Given the description of an element on the screen output the (x, y) to click on. 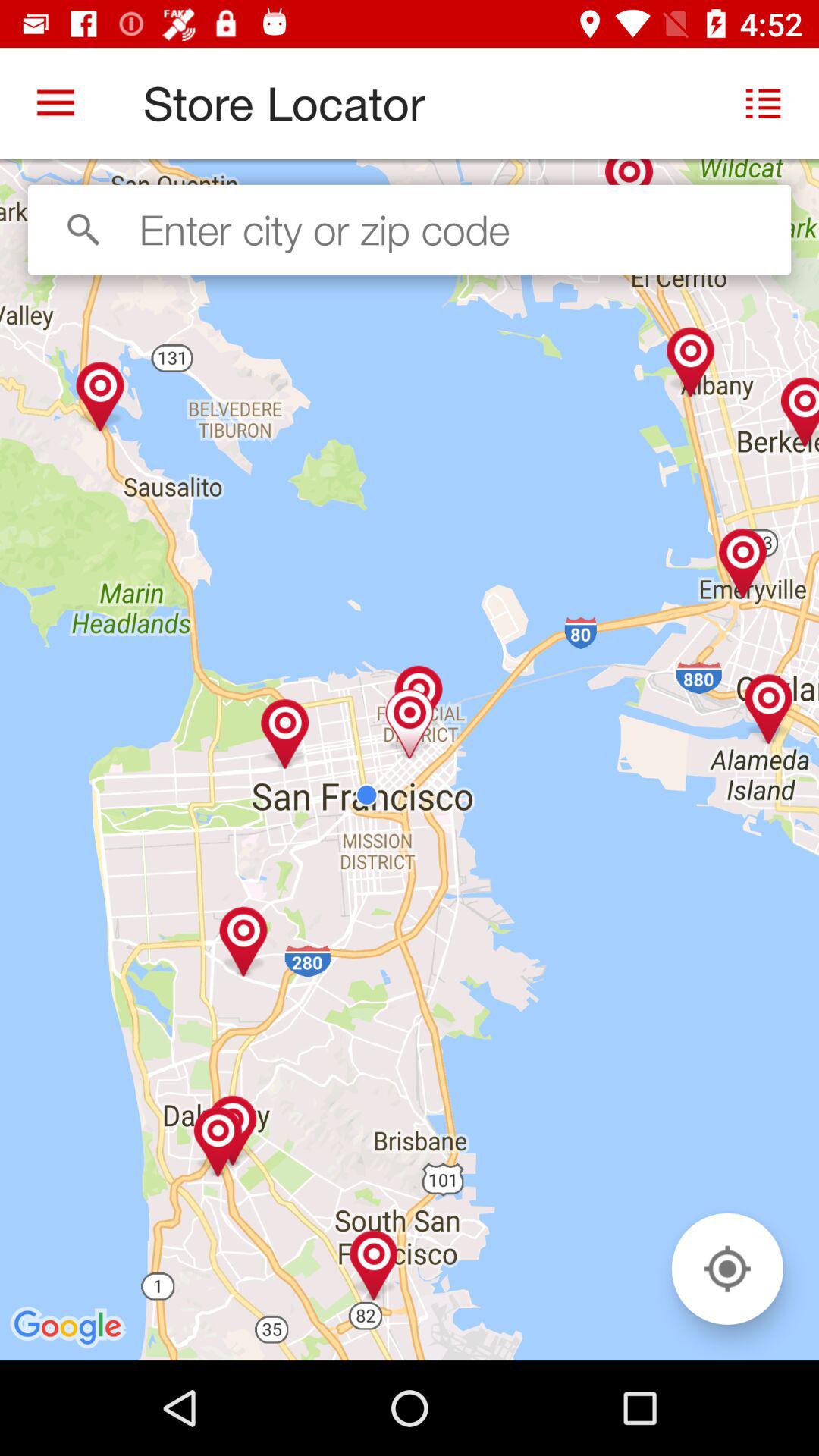
select icon to the left of store locator (55, 103)
